Given the description of an element on the screen output the (x, y) to click on. 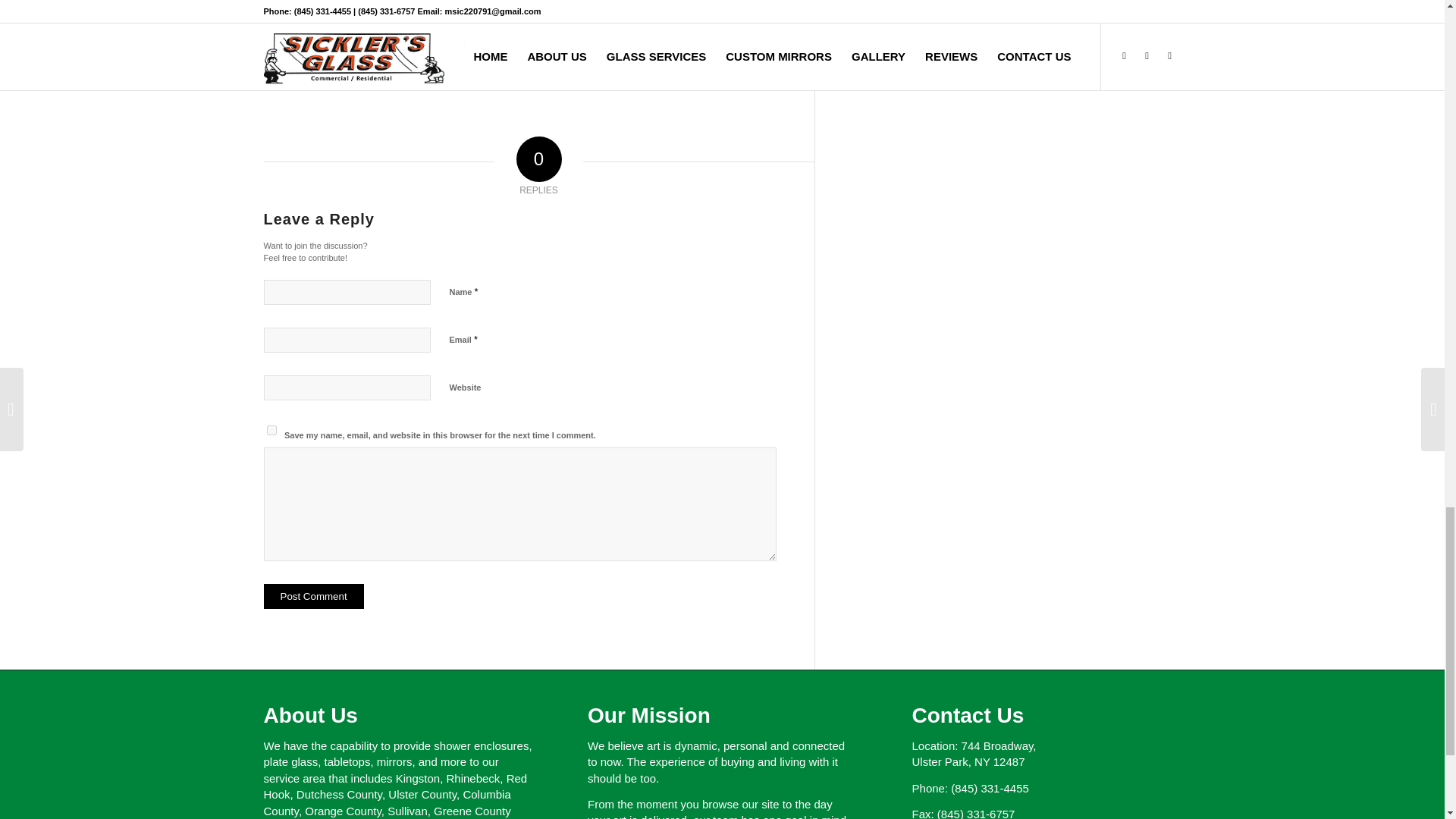
Post Comment (313, 596)
yes (271, 429)
Post Comment (313, 596)
